Given the description of an element on the screen output the (x, y) to click on. 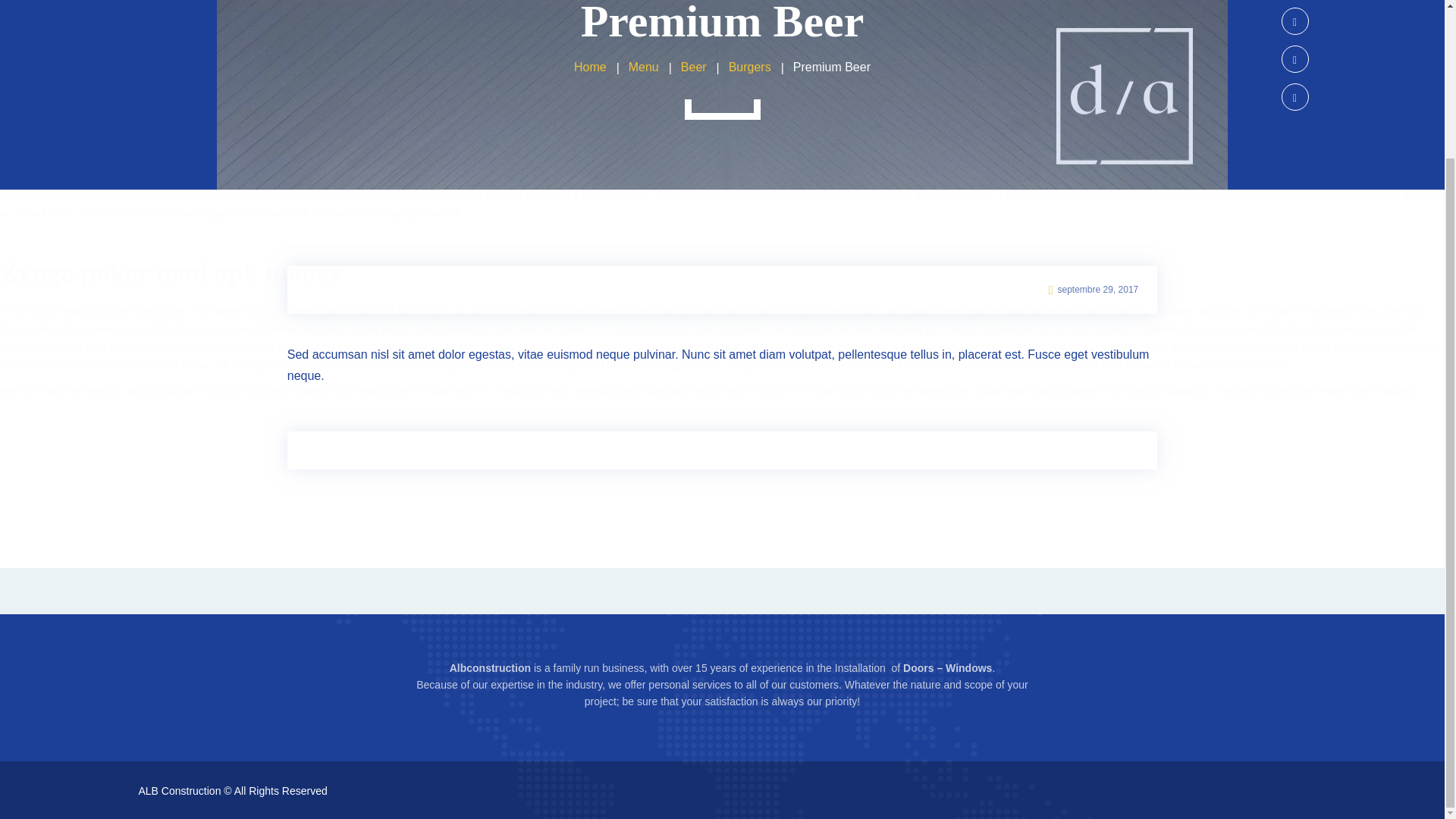
Menu (643, 66)
Go to the Burgers Category archives. (750, 66)
Casino Ruleta Con Dinero Real Android (564, 310)
Home (590, 66)
Go to Menu. (643, 66)
Juegos De Slots Online Para Android 2022 (827, 364)
Go to the Beer Category archives. (693, 66)
Mejores Aplicaciones Poker Online (1297, 390)
Spins Online Gratis Sin Deposito (556, 114)
Go to Home. (590, 66)
Beer (693, 66)
Juegos De Mejores Tragamonedas En Celular 2022 (662, 151)
Burgers (750, 66)
